Given the description of an element on the screen output the (x, y) to click on. 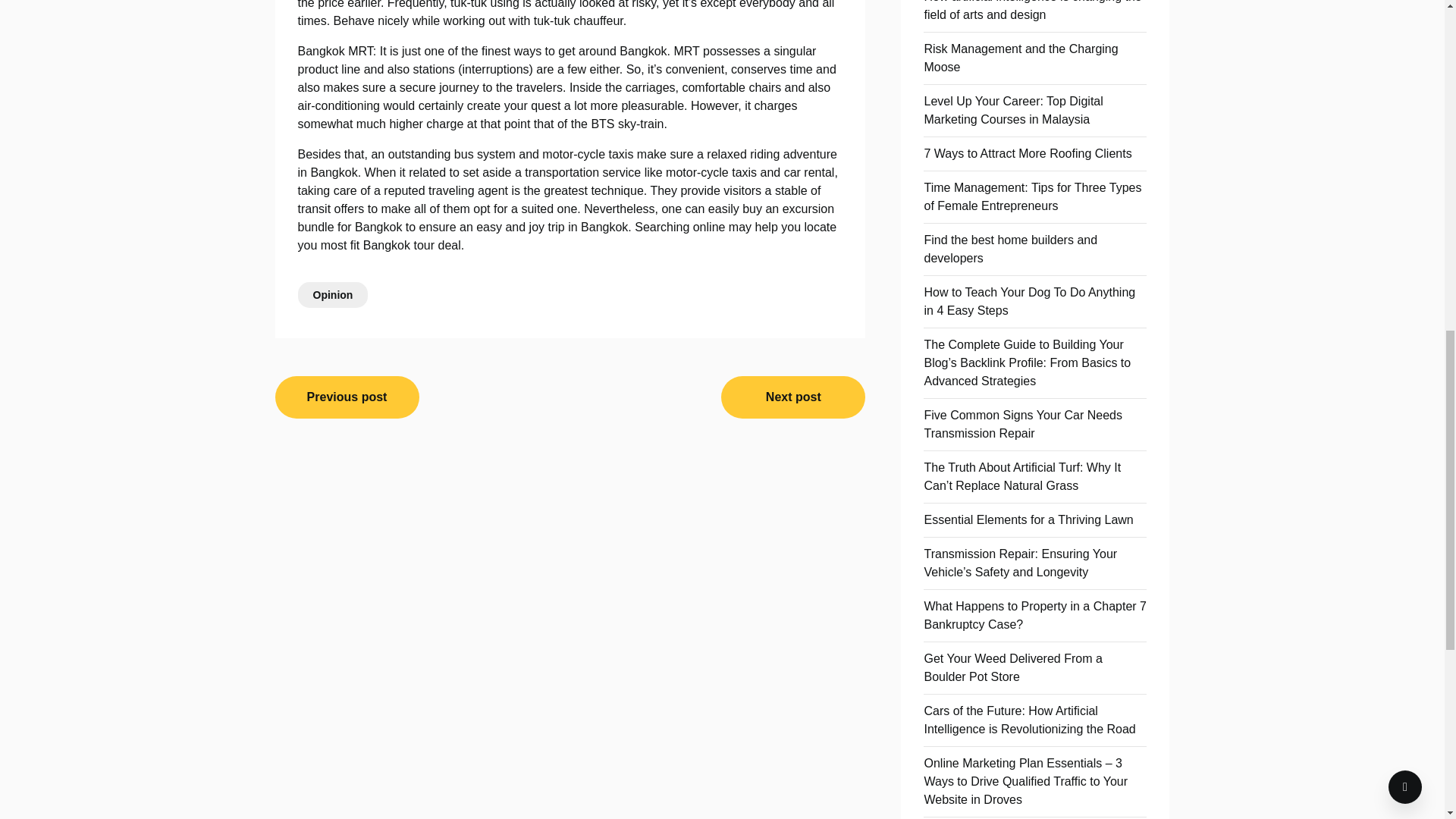
How to Teach Your Dog To Do Anything in 4 Easy Steps (1029, 300)
Risk Management and the Charging Moose (1020, 57)
Get Your Weed Delivered From a Boulder Pot Store (1012, 667)
Opinion (332, 294)
7 Ways to Attract More Roofing Clients (1027, 153)
Five Common Signs Your Car Needs Transmission Repair (1022, 423)
Previous post (347, 396)
Next post (792, 396)
Essential Elements for a Thriving Lawn (1027, 519)
Find the best home builders and developers (1010, 248)
What Happens to Property in a Chapter 7 Bankruptcy Case? (1035, 614)
